Given the description of an element on the screen output the (x, y) to click on. 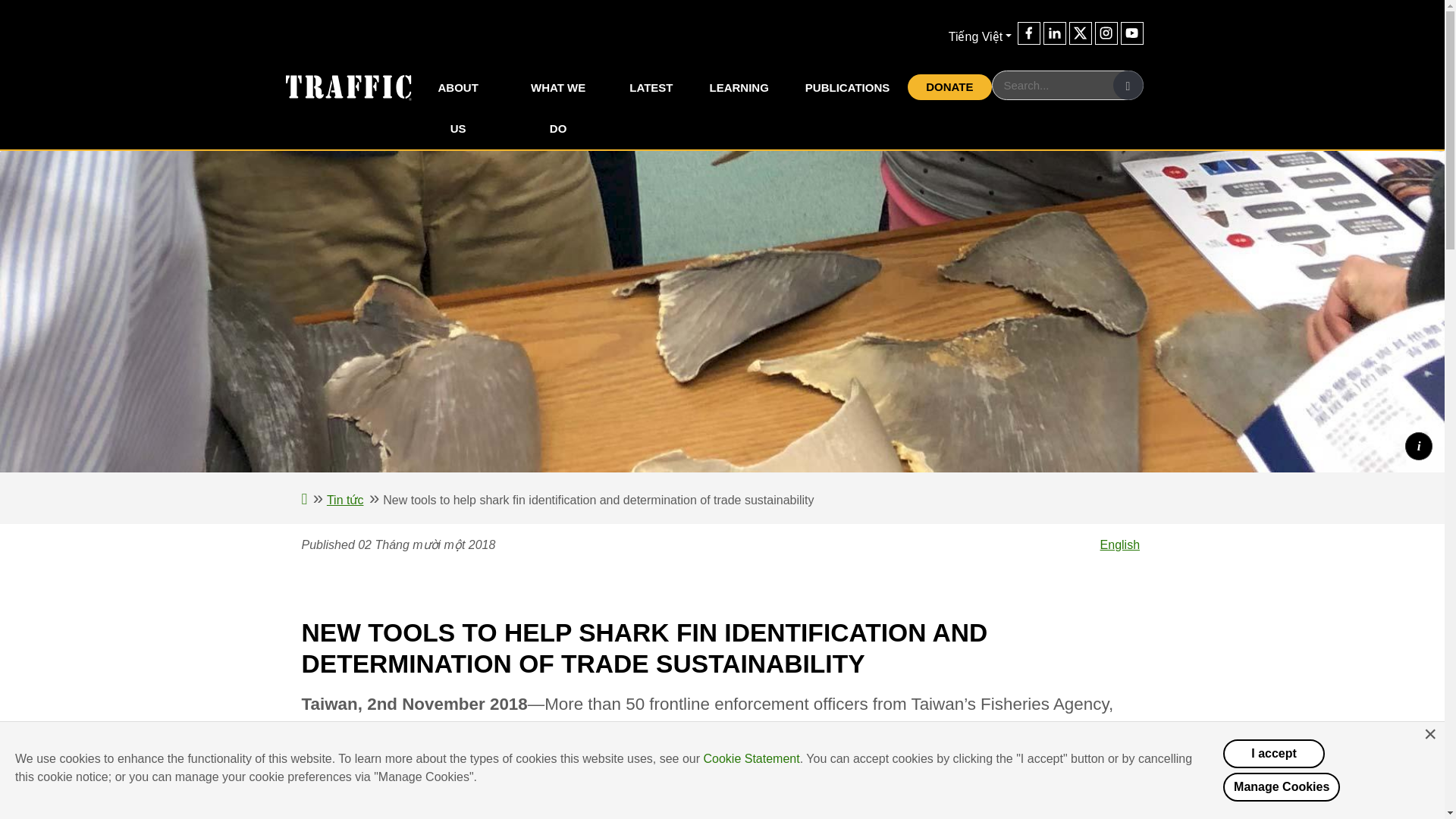
Visit our YouTube Channel (1131, 33)
English (1120, 544)
WHAT WE DO (558, 108)
Follow us on Twitter (1080, 33)
ABOUT US (456, 108)
Link to TRAFFIC.org home page (338, 86)
Follow us on Instagram (1106, 33)
LEARNING (739, 87)
Visit our Facebook Page (1029, 33)
DONATE (949, 86)
Contact us at LinkedIn (1054, 33)
PUBLICATIONS (847, 87)
LATEST (650, 87)
